Given the description of an element on the screen output the (x, y) to click on. 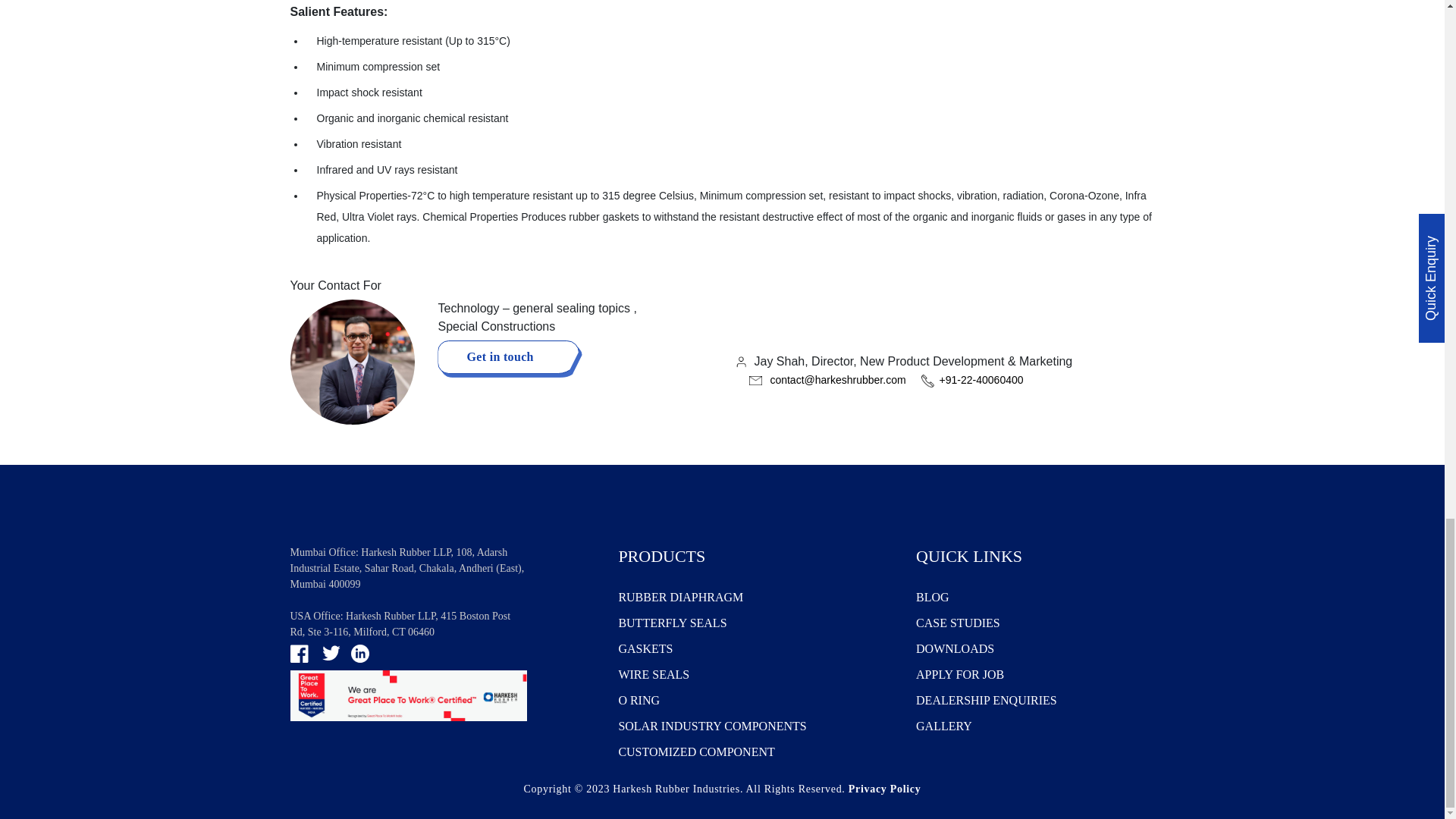
RUBBER DIAPHRAGM (731, 597)
jay-n (351, 362)
Get in touch (507, 356)
